Given the description of an element on the screen output the (x, y) to click on. 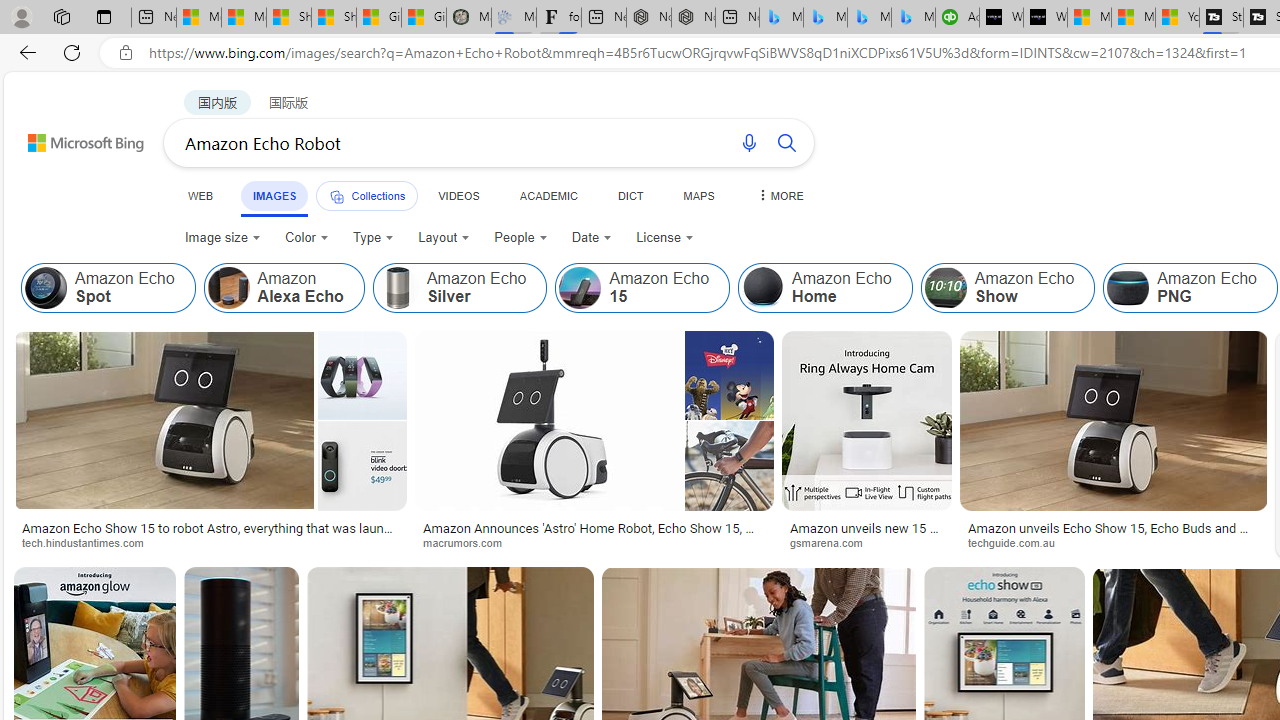
People (520, 237)
Class: b_pri_nav_svg (336, 196)
Class: item col (1190, 287)
techguide.com.au (1017, 541)
Search button (786, 142)
Manatee Mortality Statistics | FWC (468, 17)
Microsoft Bing Travel - Stays in Bangkok, Bangkok, Thailand (825, 17)
WEB (201, 195)
Image size (221, 237)
Color (305, 237)
